Given the description of an element on the screen output the (x, y) to click on. 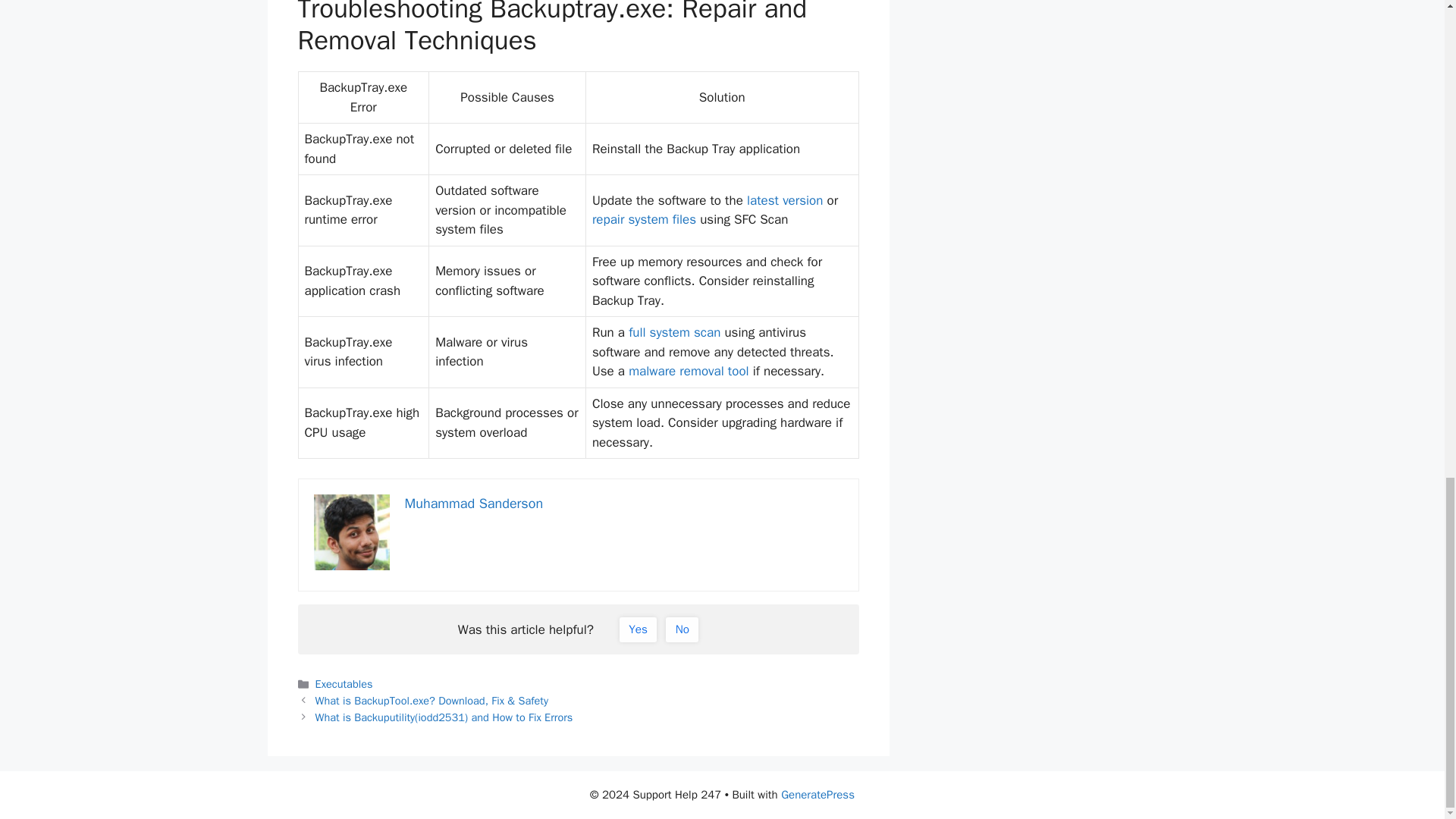
repair system files (643, 219)
Bangdun.exe Error and Troubleshooting Guide (643, 219)
full system scan (674, 332)
malware removal tool (688, 371)
Muhammad Sanderson (473, 503)
What is backupfull.exe and its errors? (688, 371)
Executables (343, 684)
GeneratePress (817, 794)
latest version (784, 200)
